Given the description of an element on the screen output the (x, y) to click on. 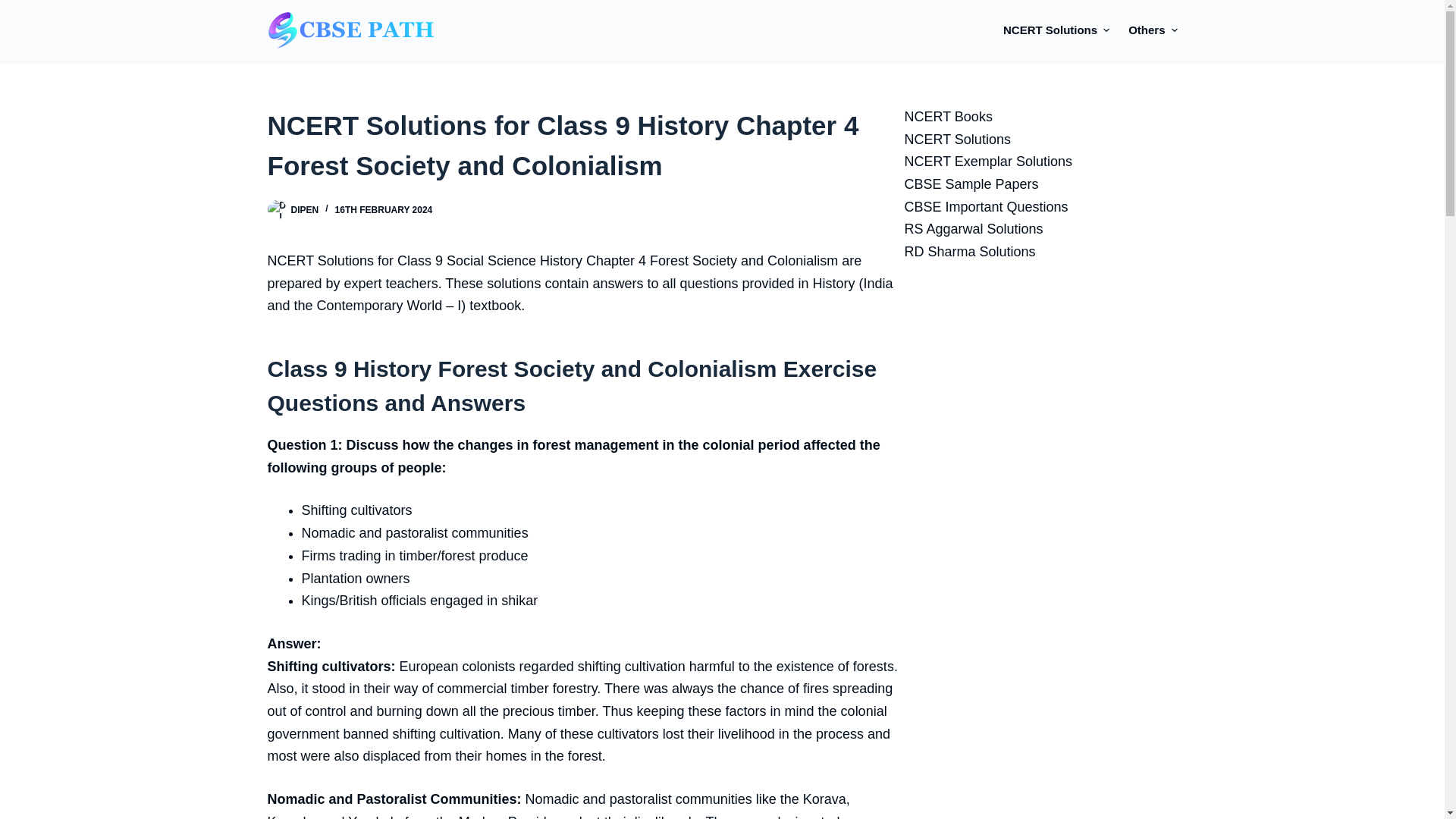
NCERT Solutions (1061, 30)
DIPEN (304, 209)
Skip to content (15, 7)
Others (1148, 30)
Posts by Dipen (304, 209)
